Given the description of an element on the screen output the (x, y) to click on. 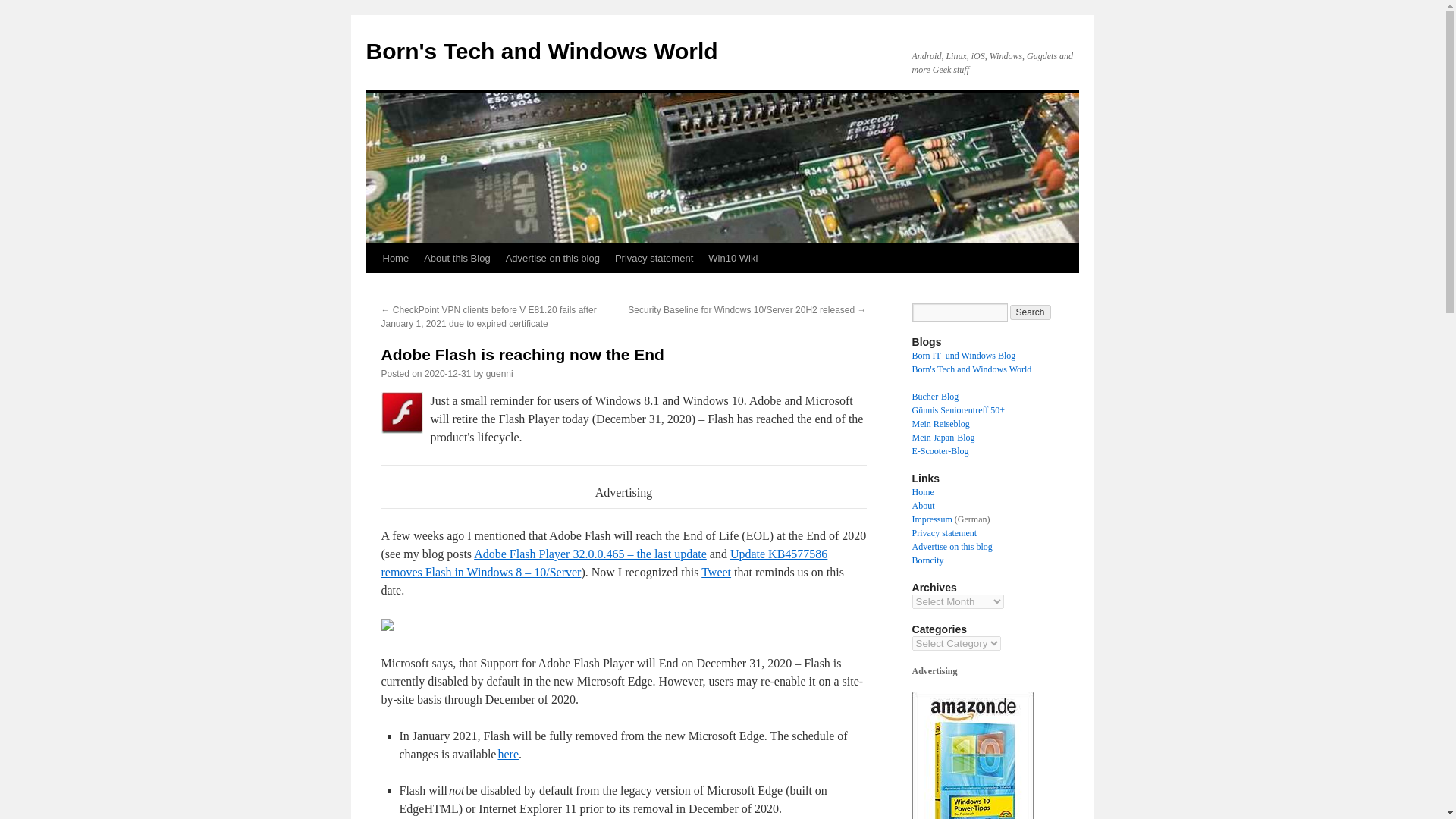
0:10 (447, 373)
Search (1030, 312)
Mein Japan-Blog (942, 437)
Born IT- und Windows Blog (962, 355)
About this Blog (456, 258)
Home (395, 258)
here (507, 753)
Advertise on this blog (552, 258)
Born's Tech and Windows World (970, 368)
View all posts by guenni (499, 373)
2020-12-31 (447, 373)
Born's Tech and Windows World (541, 50)
Tweet (715, 571)
E-Scooter-Blog (939, 450)
Search (1030, 312)
